Given the description of an element on the screen output the (x, y) to click on. 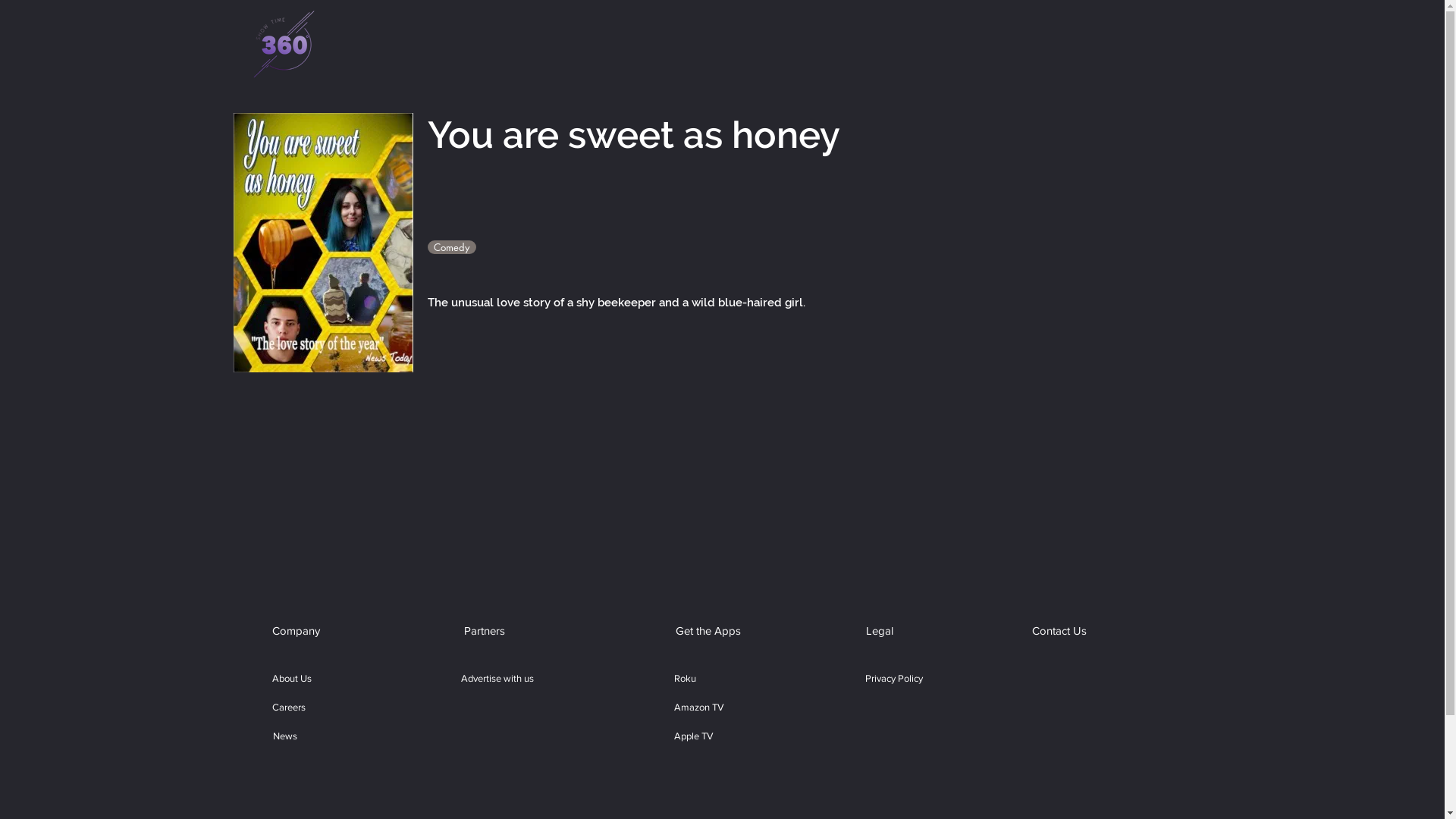
Advertise with us Element type: text (496, 678)
Careers Element type: text (287, 707)
News Element type: text (284, 735)
Contact Us Element type: text (1059, 629)
Privacy Policy Element type: text (893, 678)
Roku Element type: text (684, 678)
About Us Element type: text (290, 678)
